Given the description of an element on the screen output the (x, y) to click on. 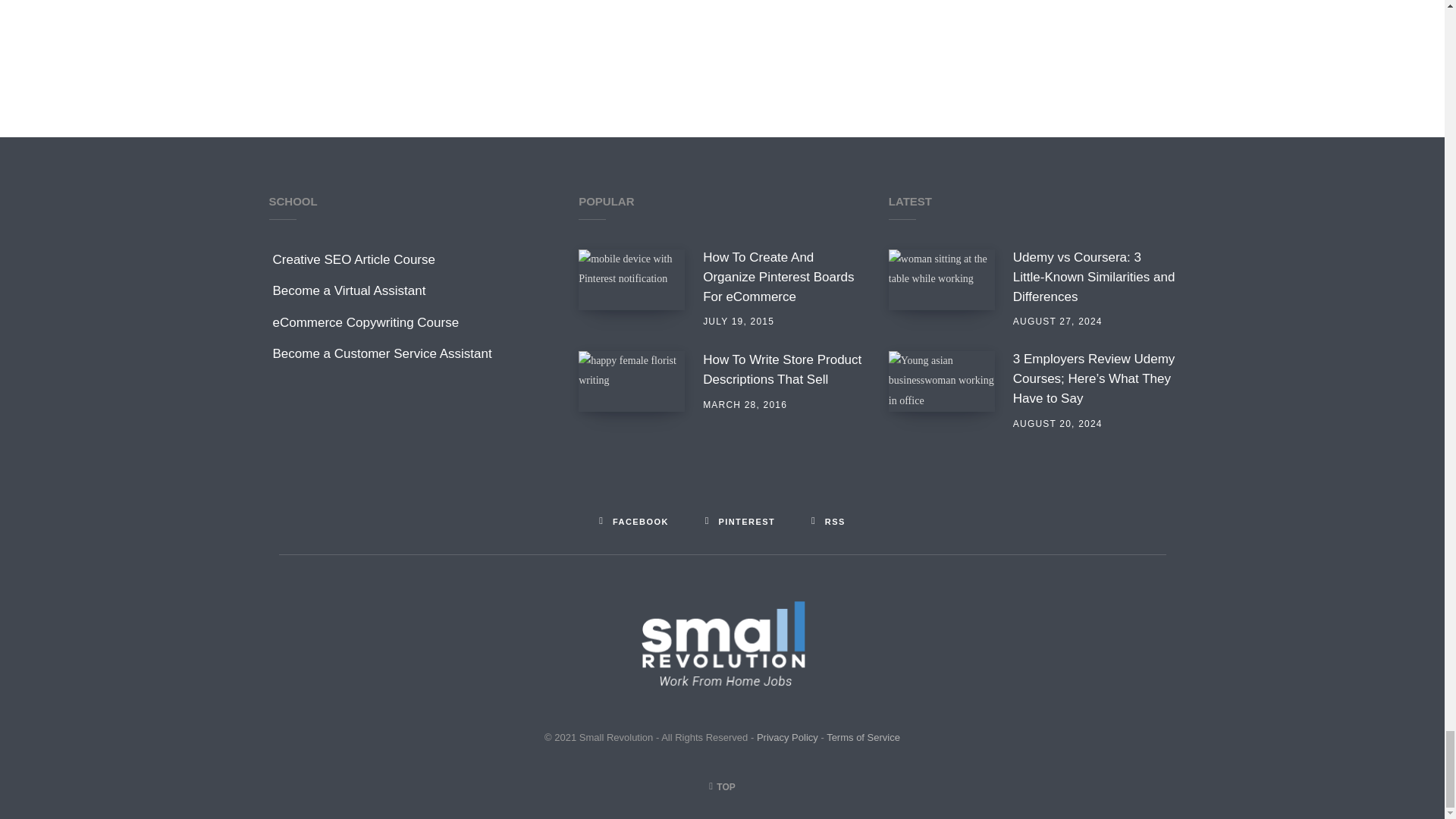
How To Write Store Product Descriptions That Sell (631, 381)
How To Create And Organize Pinterest Boards For eCommerce (631, 279)
How To Write Store Product Descriptions That Sell (784, 369)
How To Create And Organize Pinterest Boards For eCommerce (784, 277)
